Given the description of an element on the screen output the (x, y) to click on. 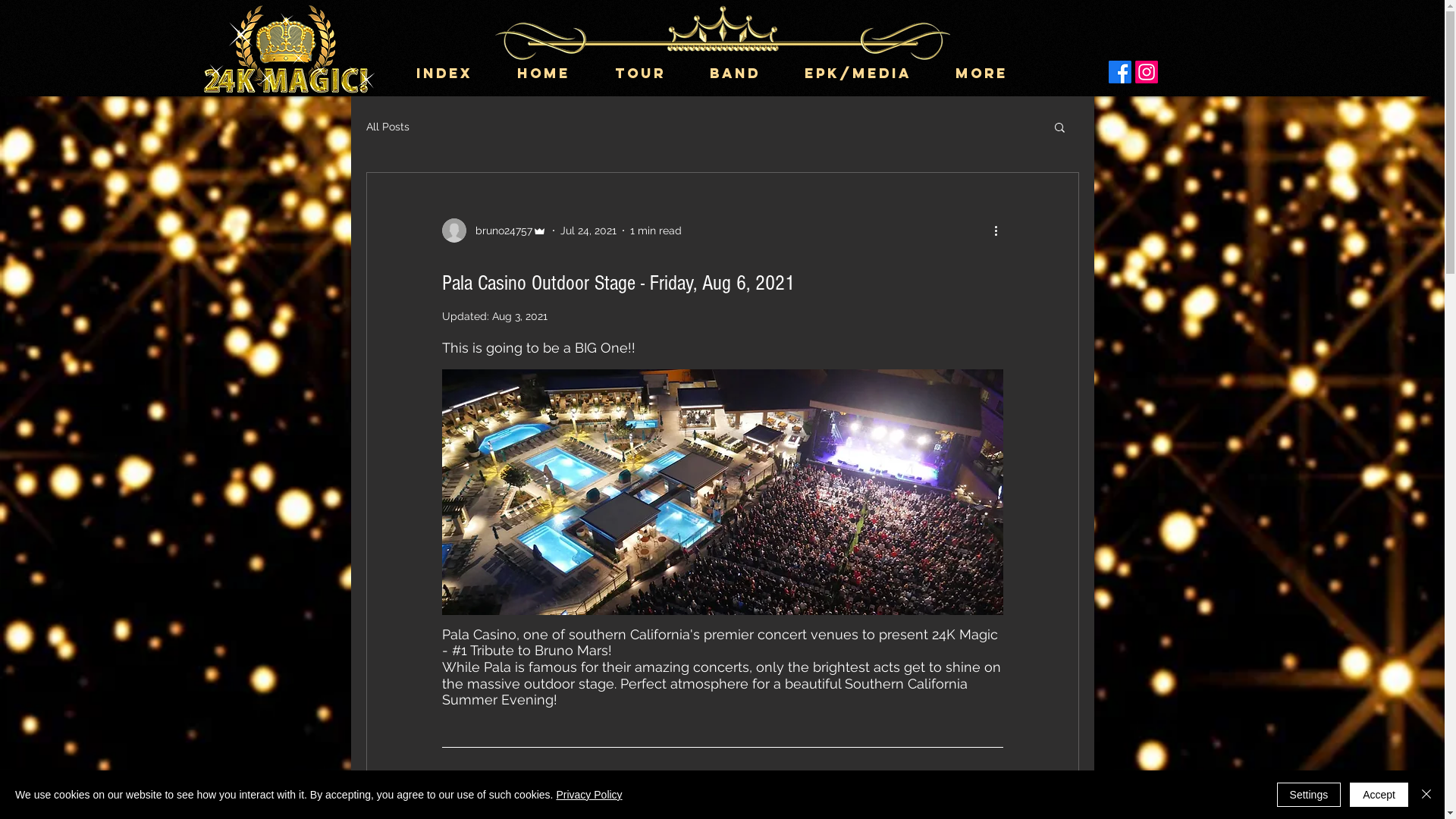
Accept Element type: text (1378, 794)
HOME Element type: text (553, 73)
Settings Element type: text (1309, 794)
BAND Element type: text (744, 73)
EPK/MEDIA Element type: text (868, 73)
Privacy Policy Element type: text (588, 794)
TOUR Element type: text (650, 73)
bruno24757 Element type: text (493, 230)
All Posts Element type: text (386, 126)
INDEX Element type: text (454, 73)
